Given the description of an element on the screen output the (x, y) to click on. 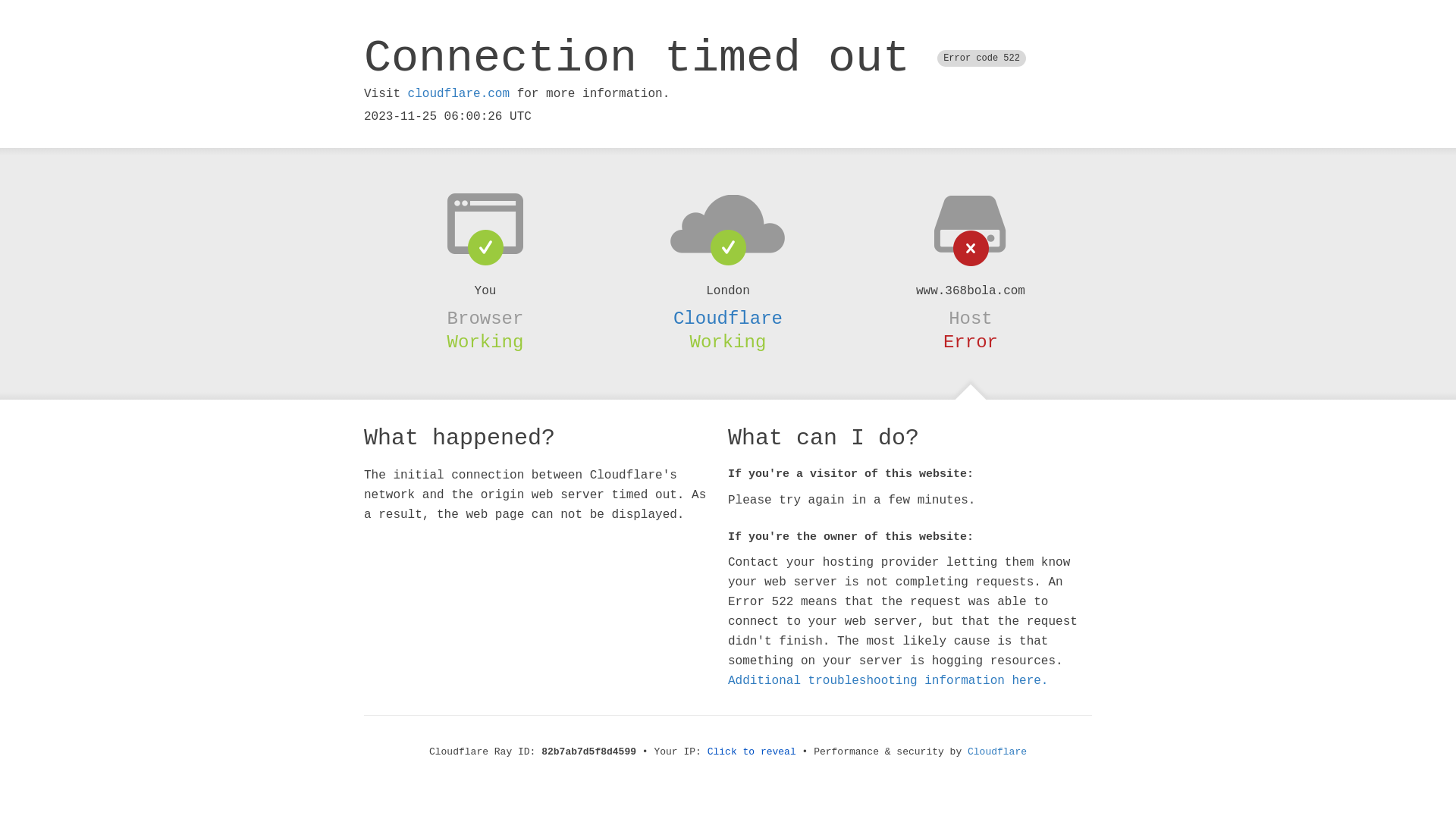
Click to reveal Element type: text (751, 751)
Cloudflare Element type: text (996, 751)
Cloudflare Element type: text (727, 318)
cloudflare.com Element type: text (458, 93)
Additional troubleshooting information here. Element type: text (888, 680)
